Given the description of an element on the screen output the (x, y) to click on. 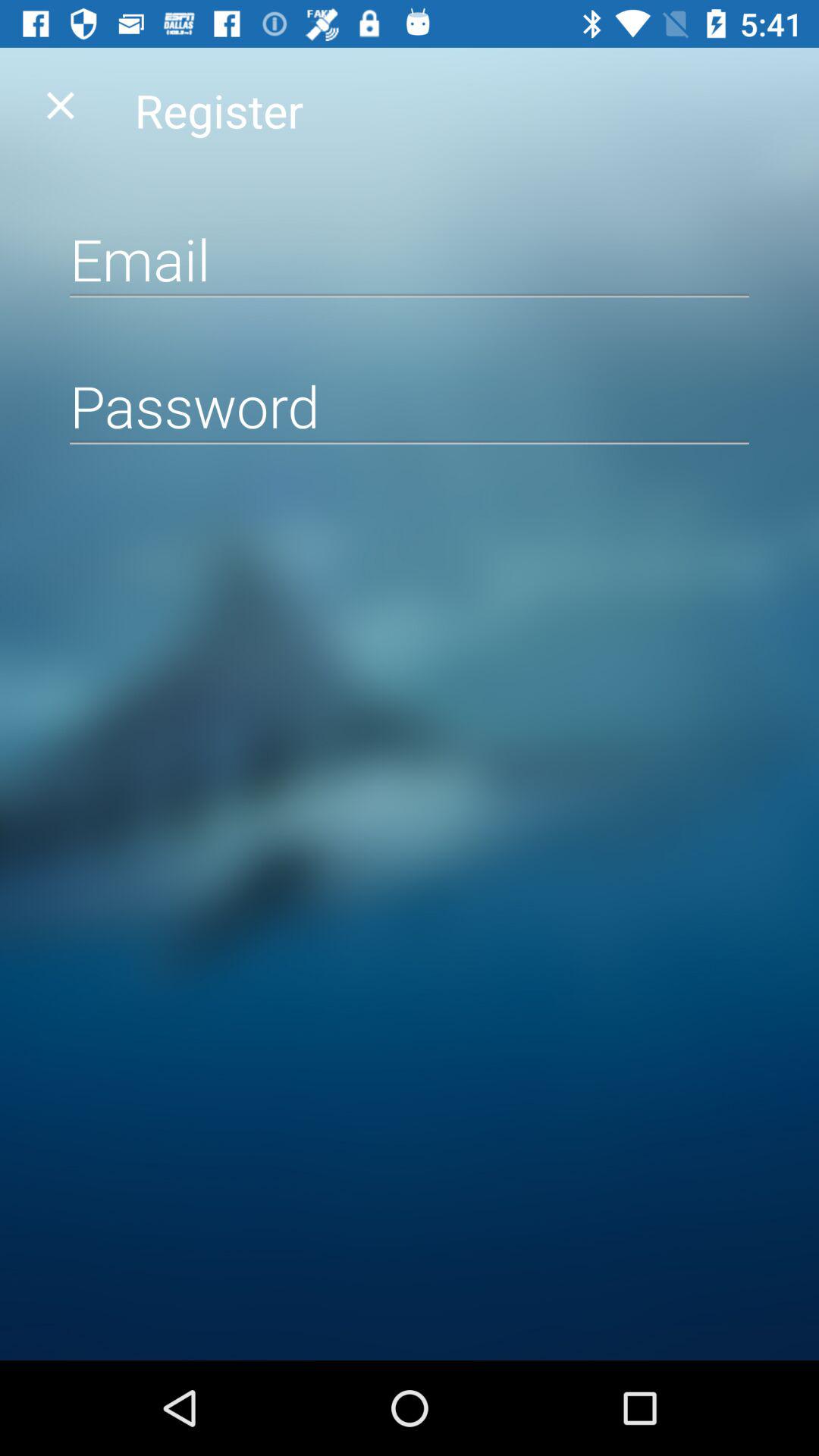
enter an email (409, 258)
